Given the description of an element on the screen output the (x, y) to click on. 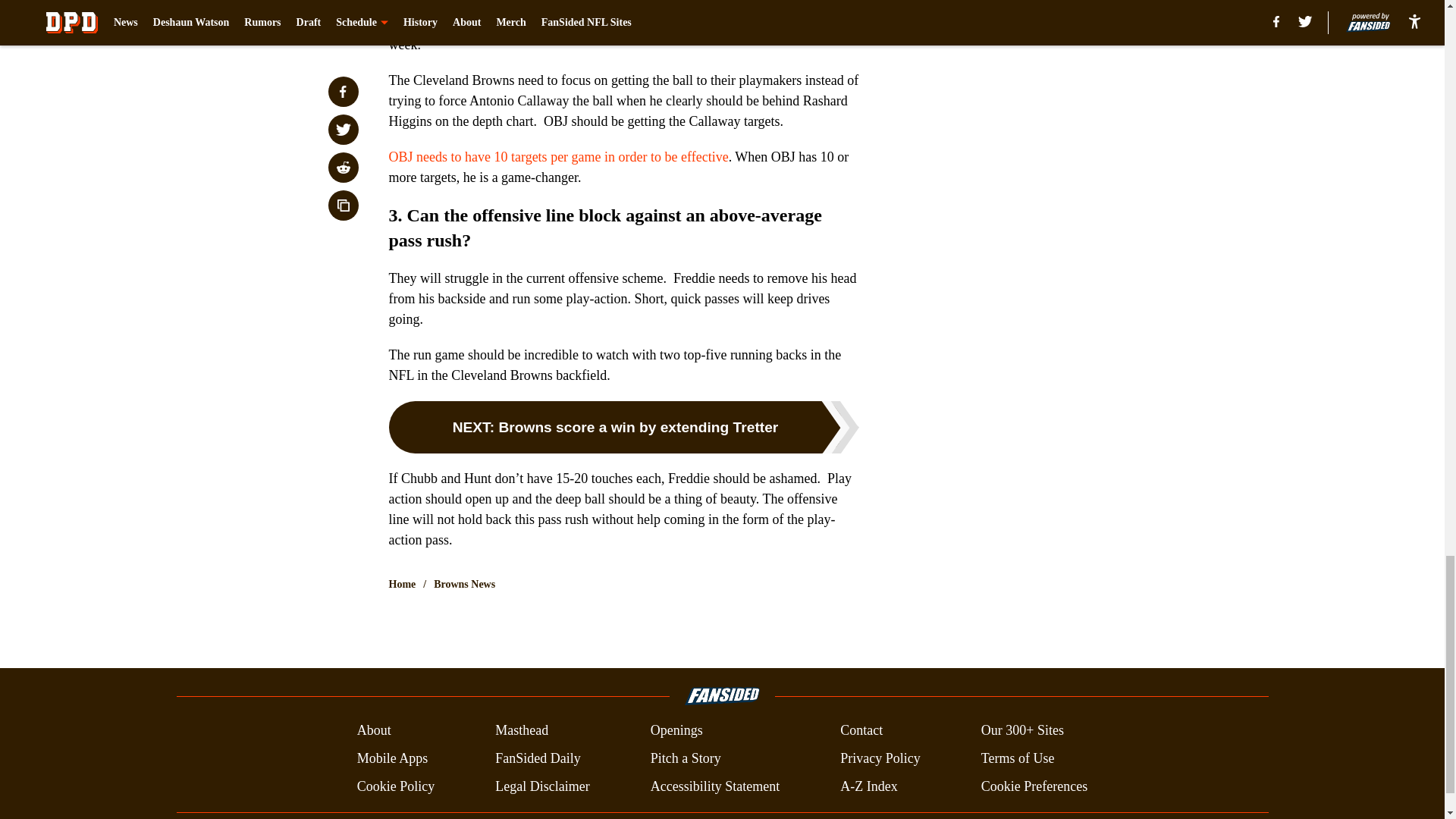
Home (401, 584)
Contact (861, 730)
NEXT: Browns score a win by extending Tretter (623, 427)
Browns News (464, 584)
Mobile Apps (392, 758)
FanSided Daily (537, 758)
About (373, 730)
Openings (676, 730)
Masthead (521, 730)
